Given the description of an element on the screen output the (x, y) to click on. 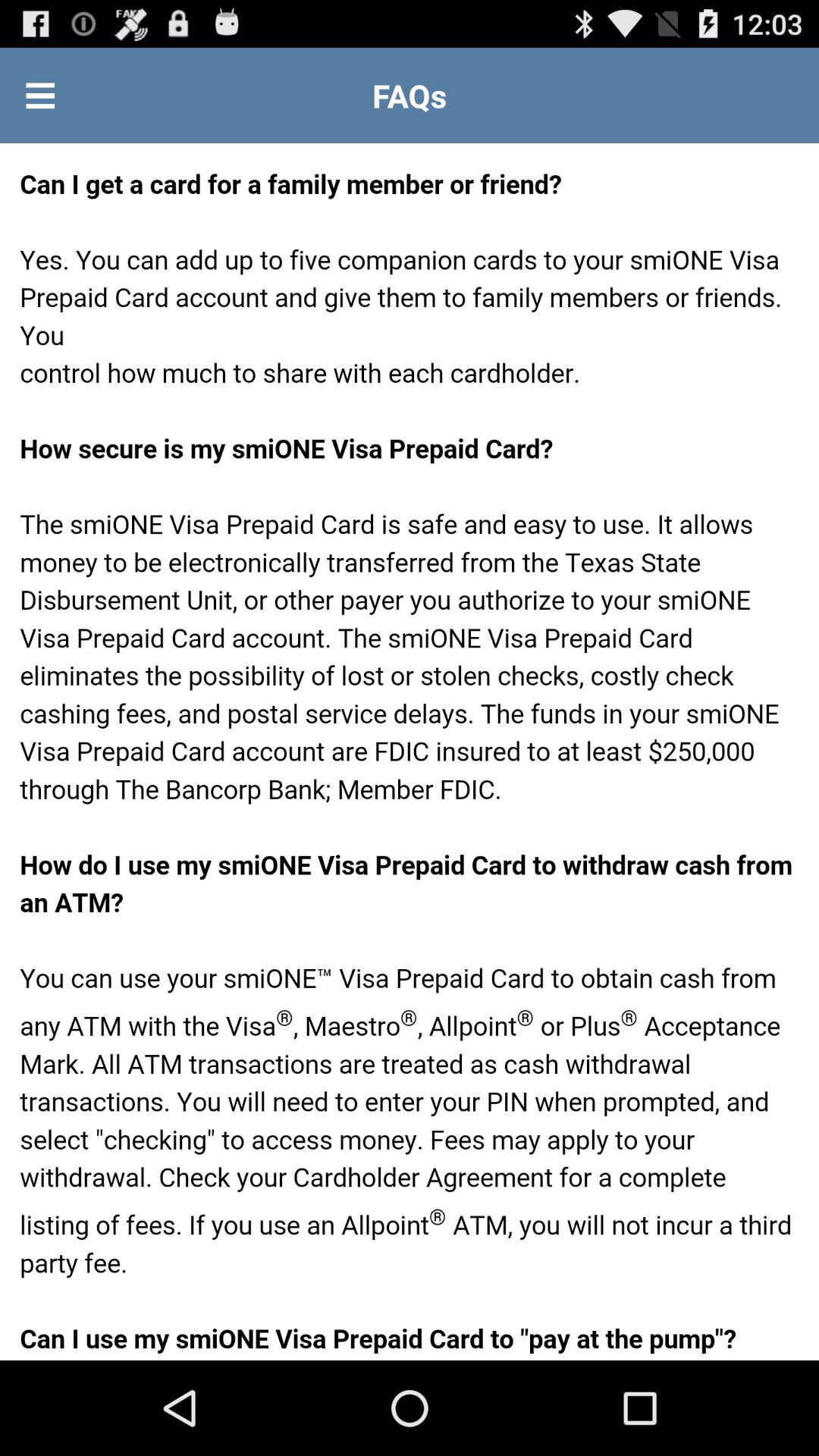
menu icon (39, 95)
